Given the description of an element on the screen output the (x, y) to click on. 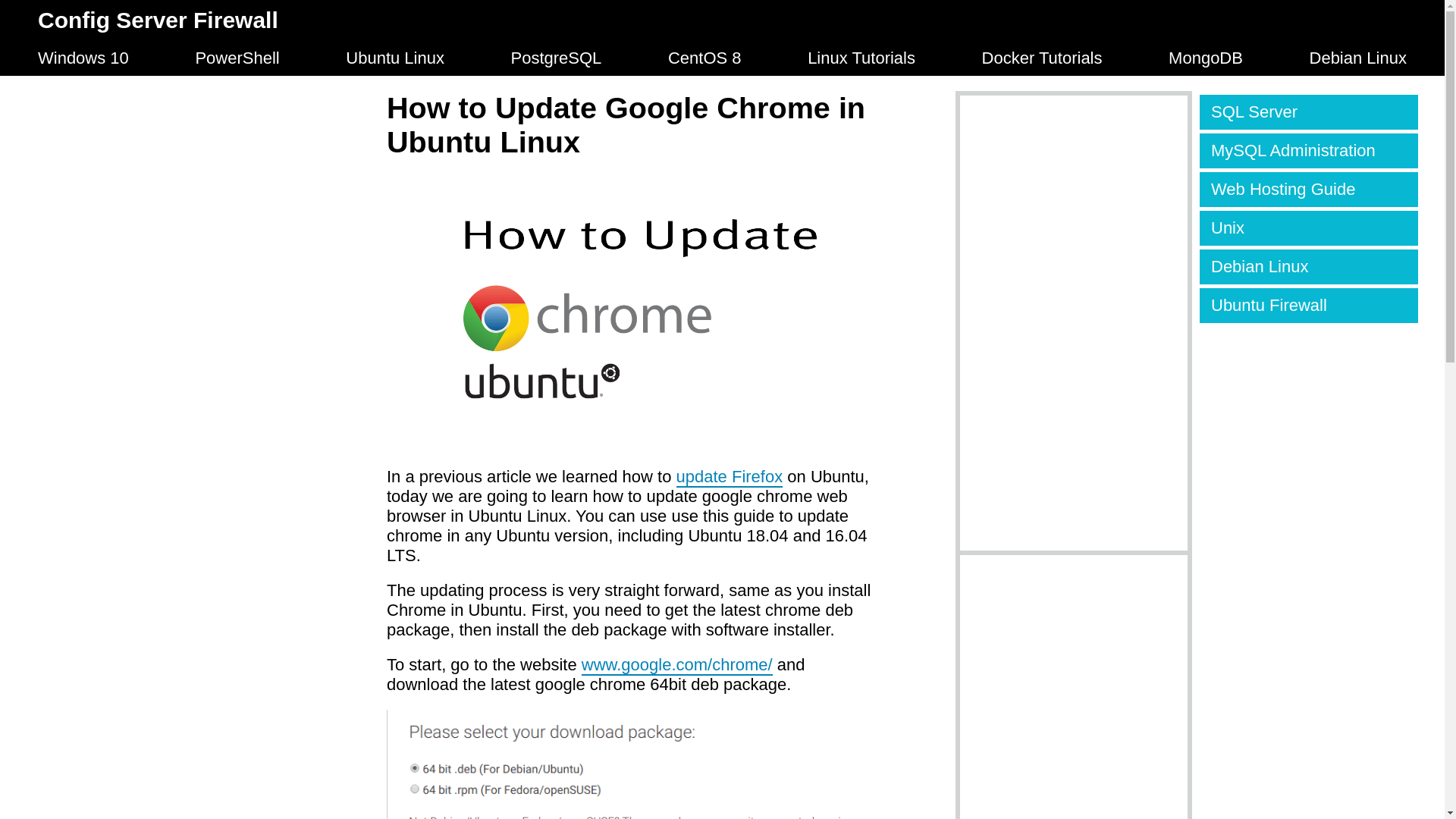
SQL Server (1308, 112)
PowerShell (237, 57)
Docker Tutorials (1041, 57)
Debian Linux (1308, 266)
Debian Linux (1357, 57)
Config Server Firewall (157, 19)
Linux Tutorials (861, 57)
PostgreSQL (556, 57)
Ubuntu Linux (395, 57)
MongoDB (1206, 57)
MySQL Administration (1308, 150)
CentOS 8 (704, 57)
Unix (1308, 227)
Ubuntu Firewall (1308, 305)
Web Hosting Guide (1308, 189)
